Given the description of an element on the screen output the (x, y) to click on. 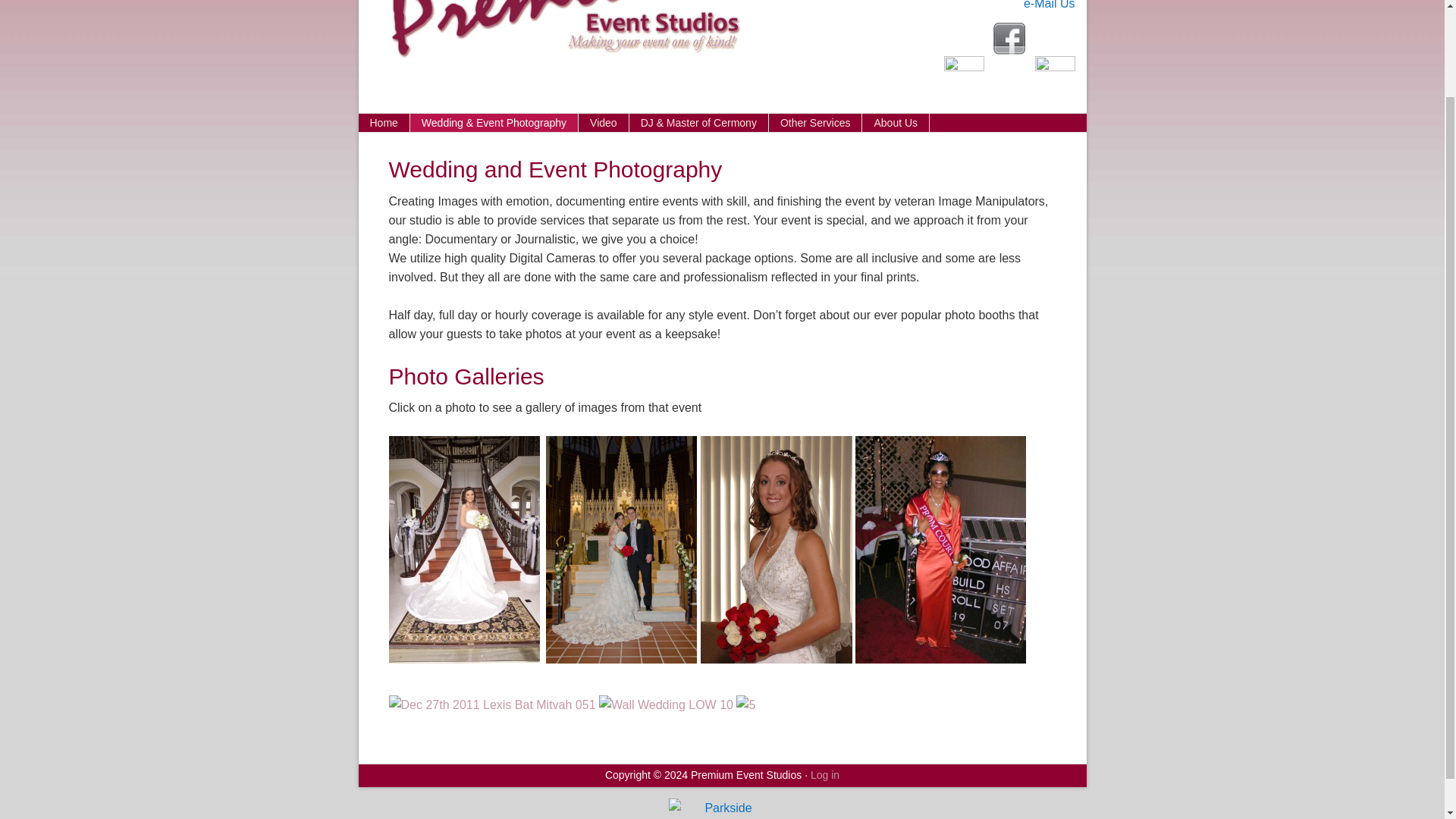
About Us (895, 122)
e-Mail Us (1049, 4)
Log in (825, 775)
Video (603, 122)
Other Services (815, 122)
Premium Event Studios (549, 29)
Home (383, 122)
